Given the description of an element on the screen output the (x, y) to click on. 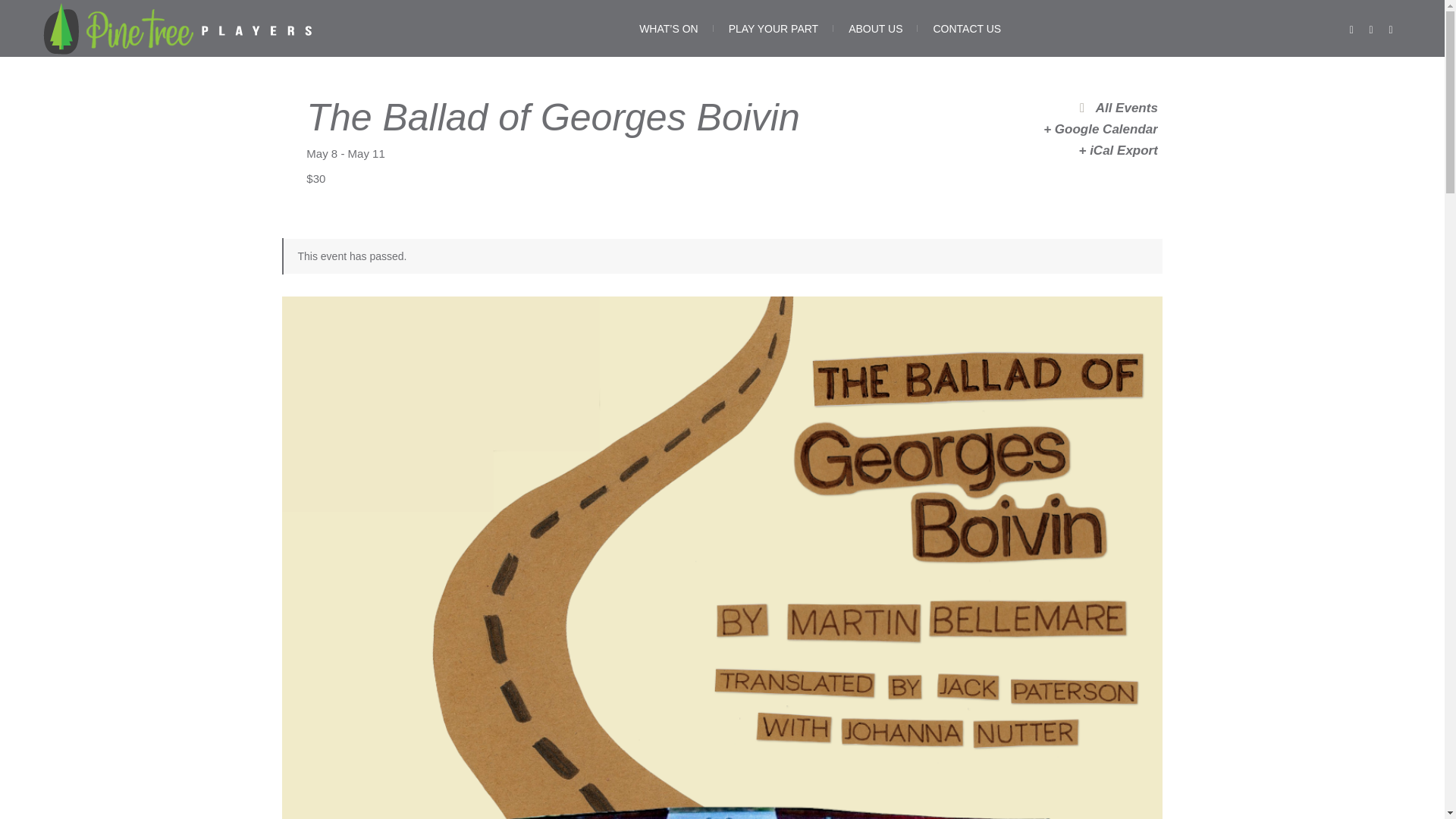
ABOUT US (874, 28)
PLAY YOUR PART (773, 28)
Download .ics file (1082, 150)
CONTACT US (966, 28)
Add to Google Calendar (1082, 129)
All Events (1082, 107)
